Given the description of an element on the screen output the (x, y) to click on. 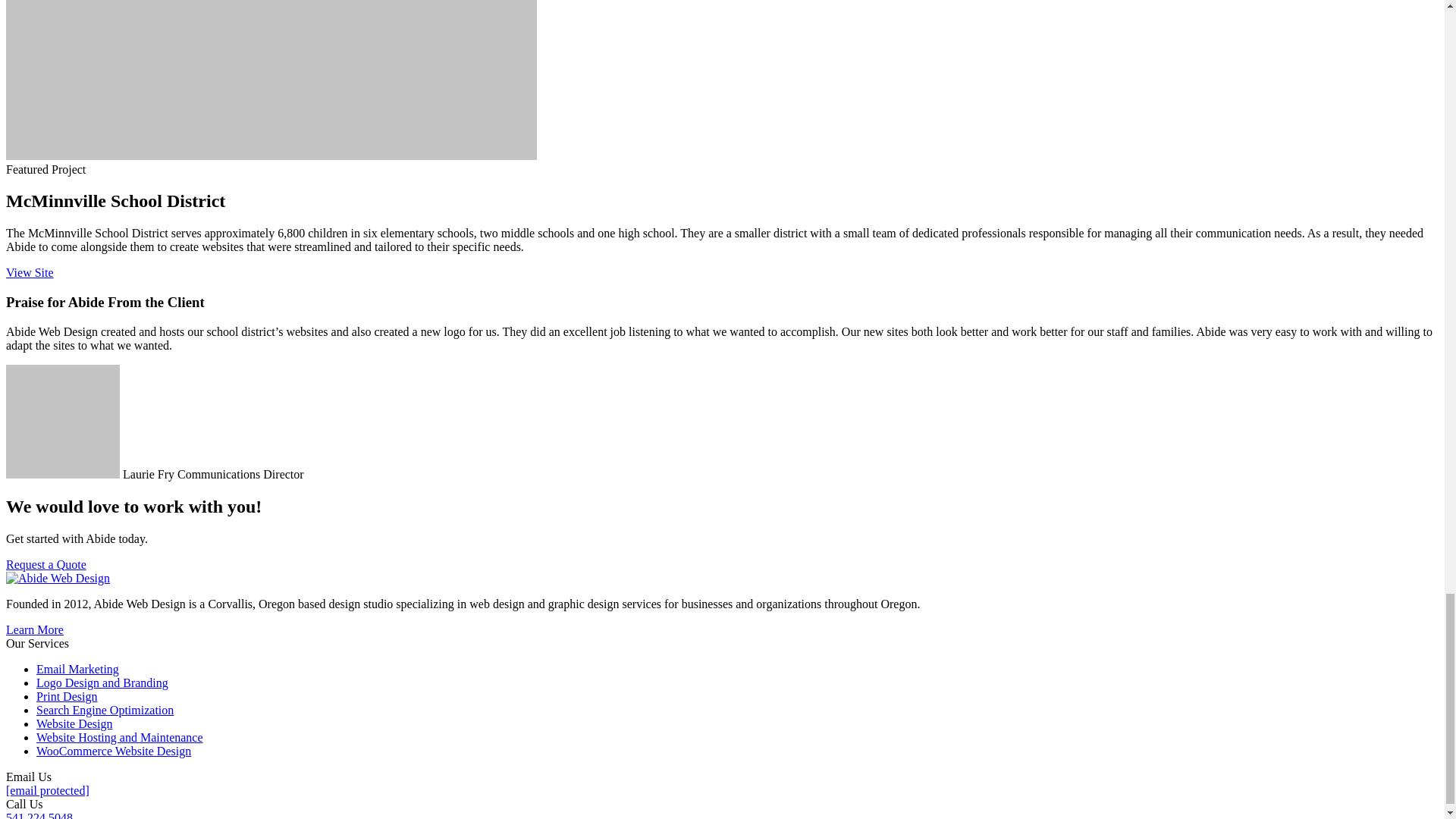
Abide Web Design (57, 578)
Print Design (66, 696)
Search Engine Optimization (104, 709)
WooCommerce Website Design (113, 750)
View Site (29, 272)
Email Marketing (77, 668)
Website Hosting and Maintenance (119, 737)
Request a Quote (45, 563)
Website Design (74, 723)
Learn More (34, 629)
Logo Design and Branding (102, 682)
